Given the description of an element on the screen output the (x, y) to click on. 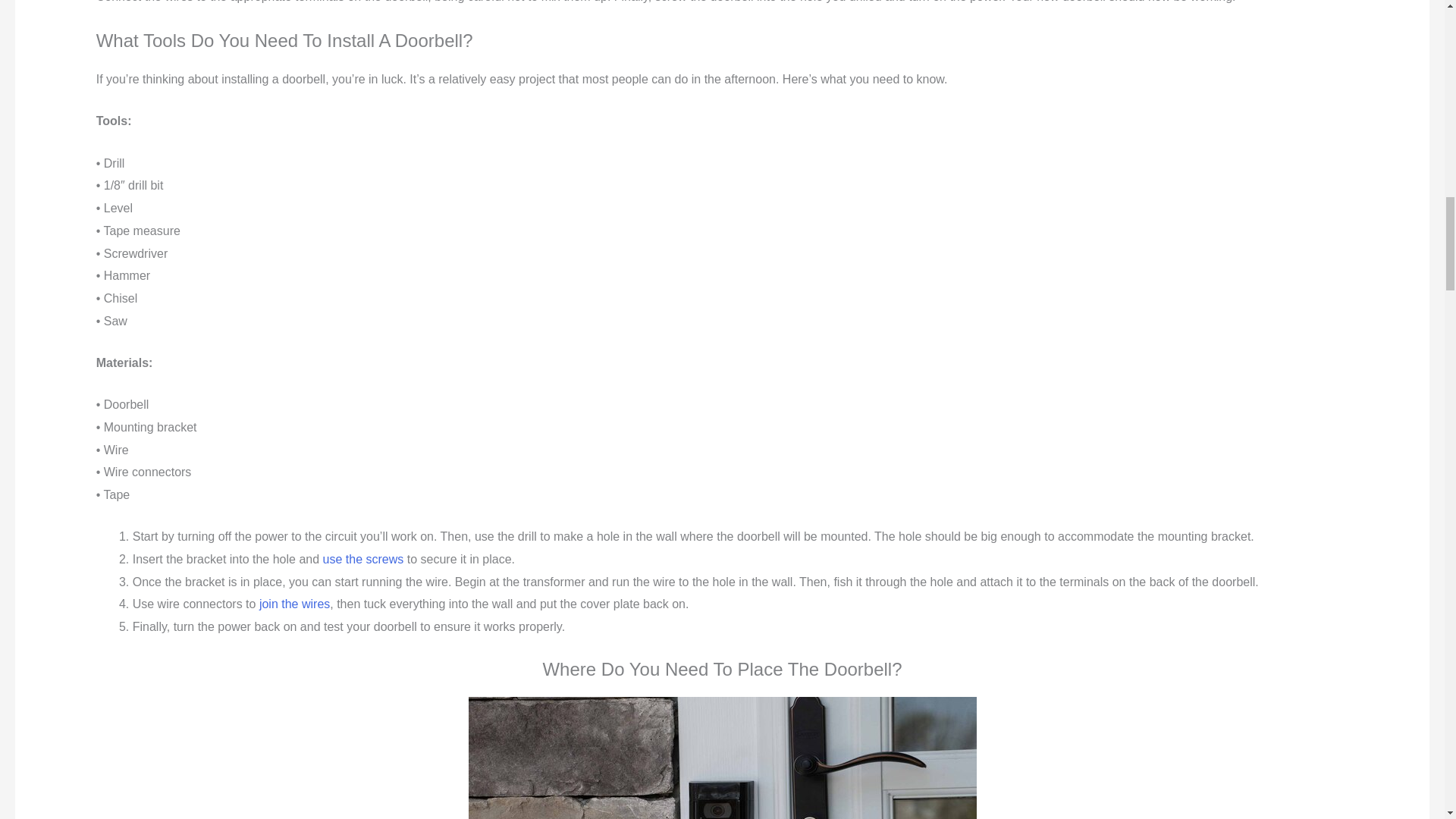
use the screws (363, 558)
join the wires (294, 603)
